Given the description of an element on the screen output the (x, y) to click on. 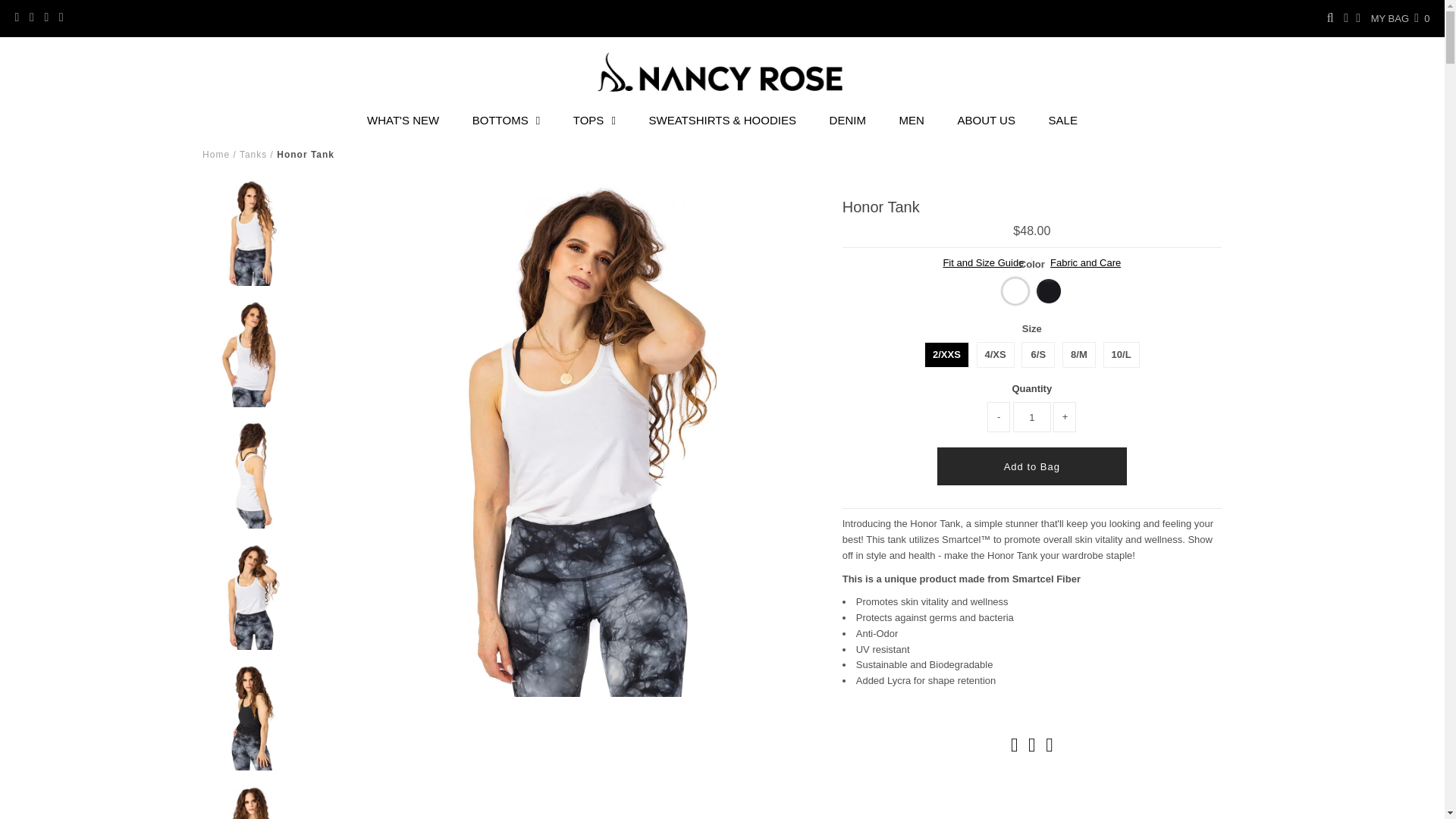
Tanks (253, 154)
ABOUT US (986, 119)
MEN (911, 119)
BOTTOMS (505, 119)
Home (216, 154)
Home (216, 154)
WHAT'S NEW (403, 119)
MY BAG    0 (1400, 18)
Add to Bag (1031, 466)
DENIM (846, 119)
TOPS (593, 119)
SALE (1063, 119)
1 (1032, 417)
